Given the description of an element on the screen output the (x, y) to click on. 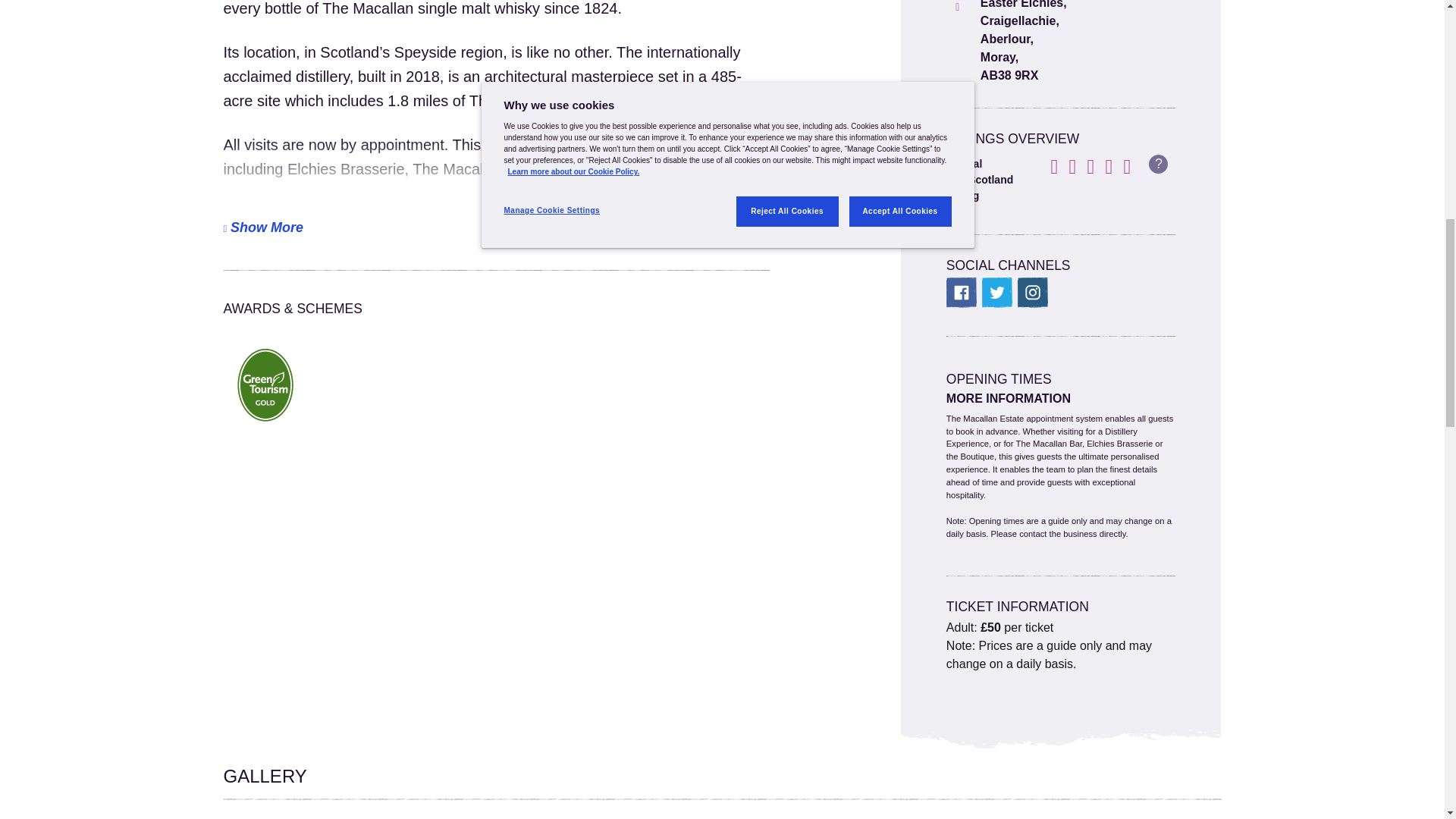
Twitter (996, 292)
Facebook (961, 292)
Instagram (1032, 292)
